Given the description of an element on the screen output the (x, y) to click on. 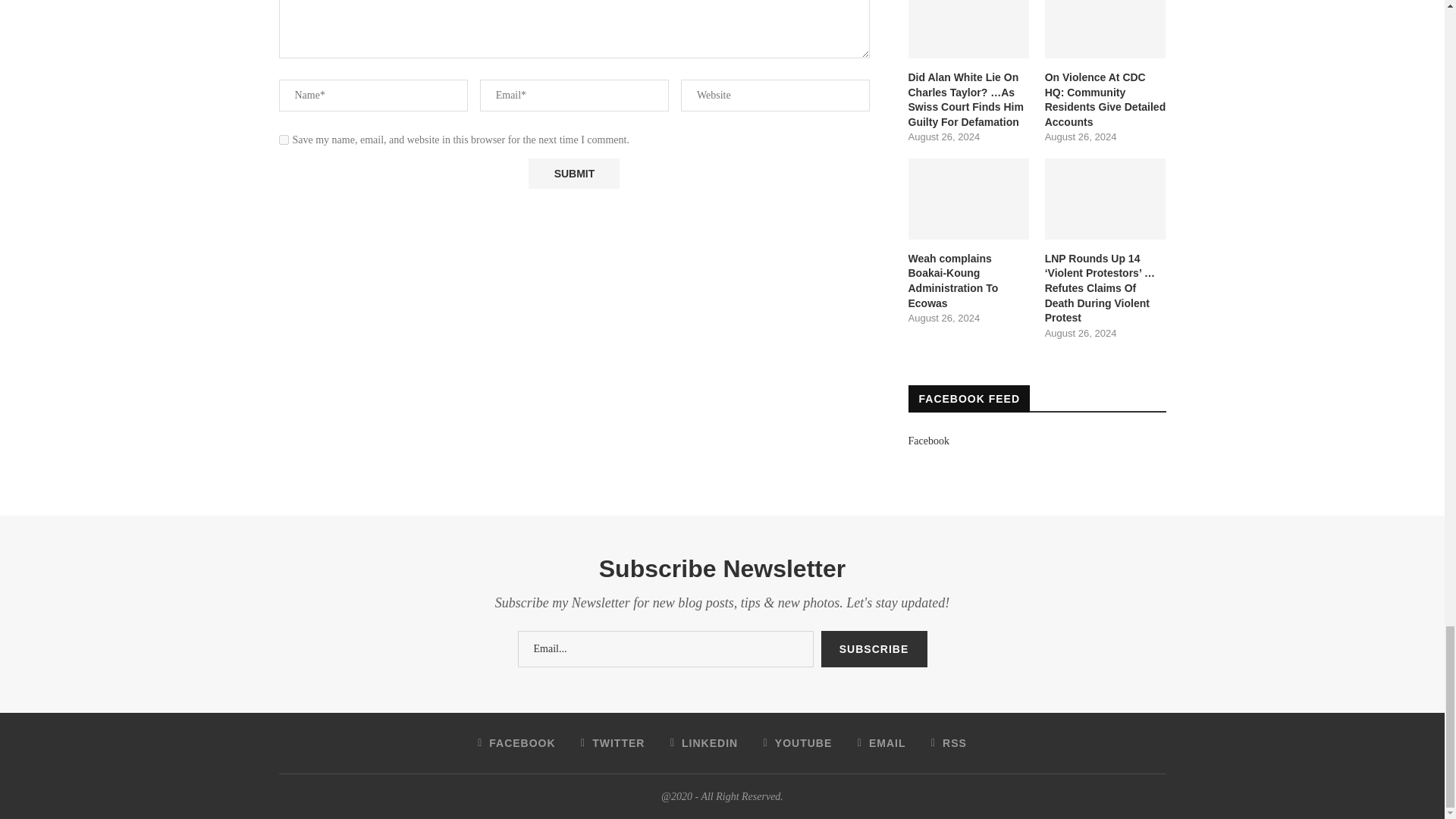
Submit (574, 173)
yes (283, 139)
Subscribe (873, 648)
